Given the description of an element on the screen output the (x, y) to click on. 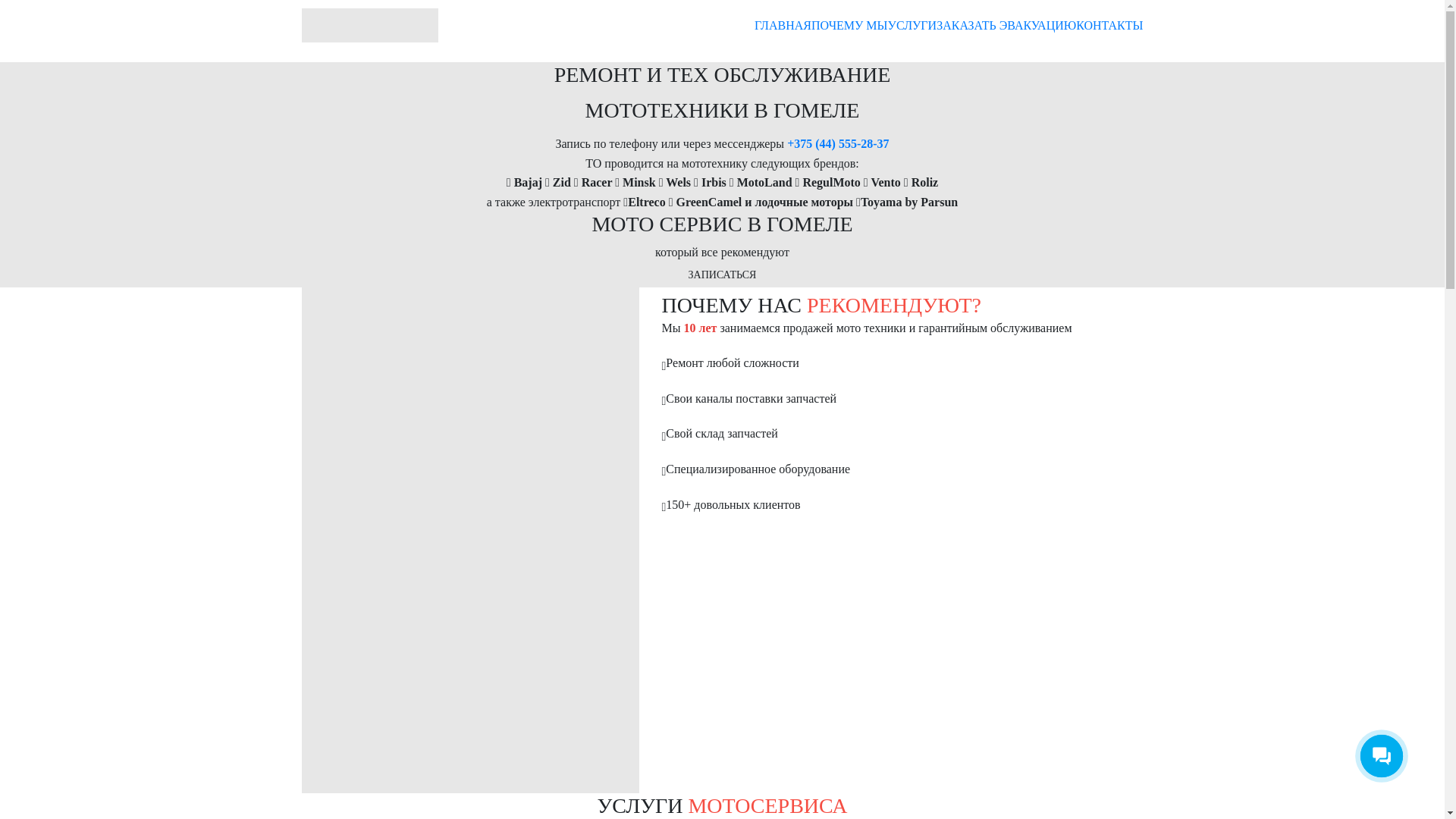
+375 (44) 555-28-37 Element type: text (837, 143)
